Given the description of an element on the screen output the (x, y) to click on. 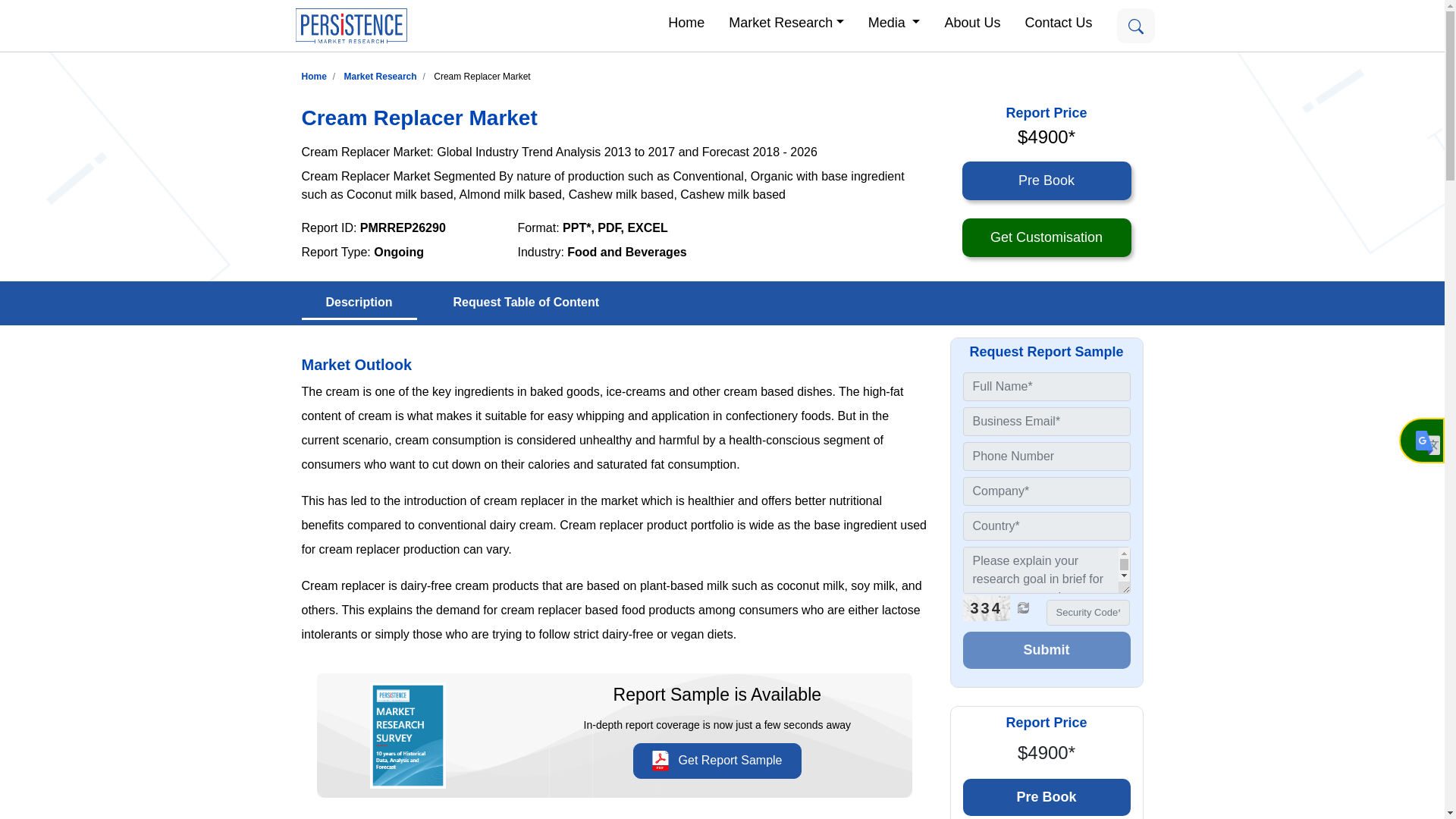
Search (1135, 25)
Description (358, 303)
Persistence Market Research Company (349, 25)
Market Research (786, 21)
About Us (971, 21)
Home (313, 76)
Pre Book (1046, 796)
Media (894, 21)
Get Customisation (1045, 237)
Request Table of Content (526, 302)
Get Report Sample (716, 760)
Market Research (786, 21)
Submit (1046, 650)
Contact Us (1057, 21)
Market Research (379, 76)
